Given the description of an element on the screen output the (x, y) to click on. 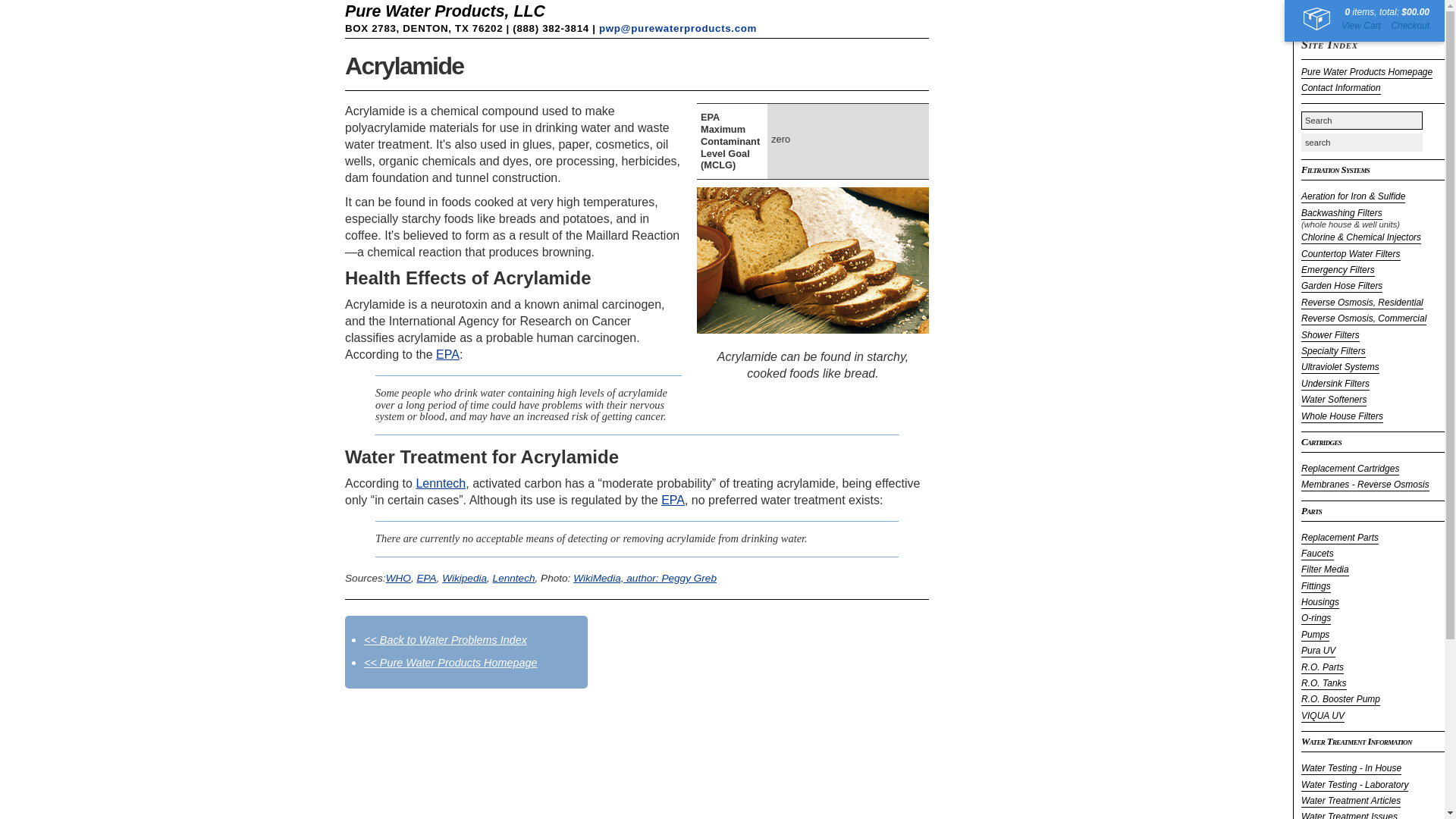
Garden Hose Filters (1341, 286)
Whole House Filters (1342, 417)
Contact Information (1340, 88)
search (1361, 142)
R.O. Parts (1322, 667)
search (1361, 142)
Shower Filters (1330, 336)
WikiMedia, author: Peggy Greb (644, 577)
Replacement Cartridges (1350, 469)
Countertop Water Filters (1350, 254)
